Given the description of an element on the screen output the (x, y) to click on. 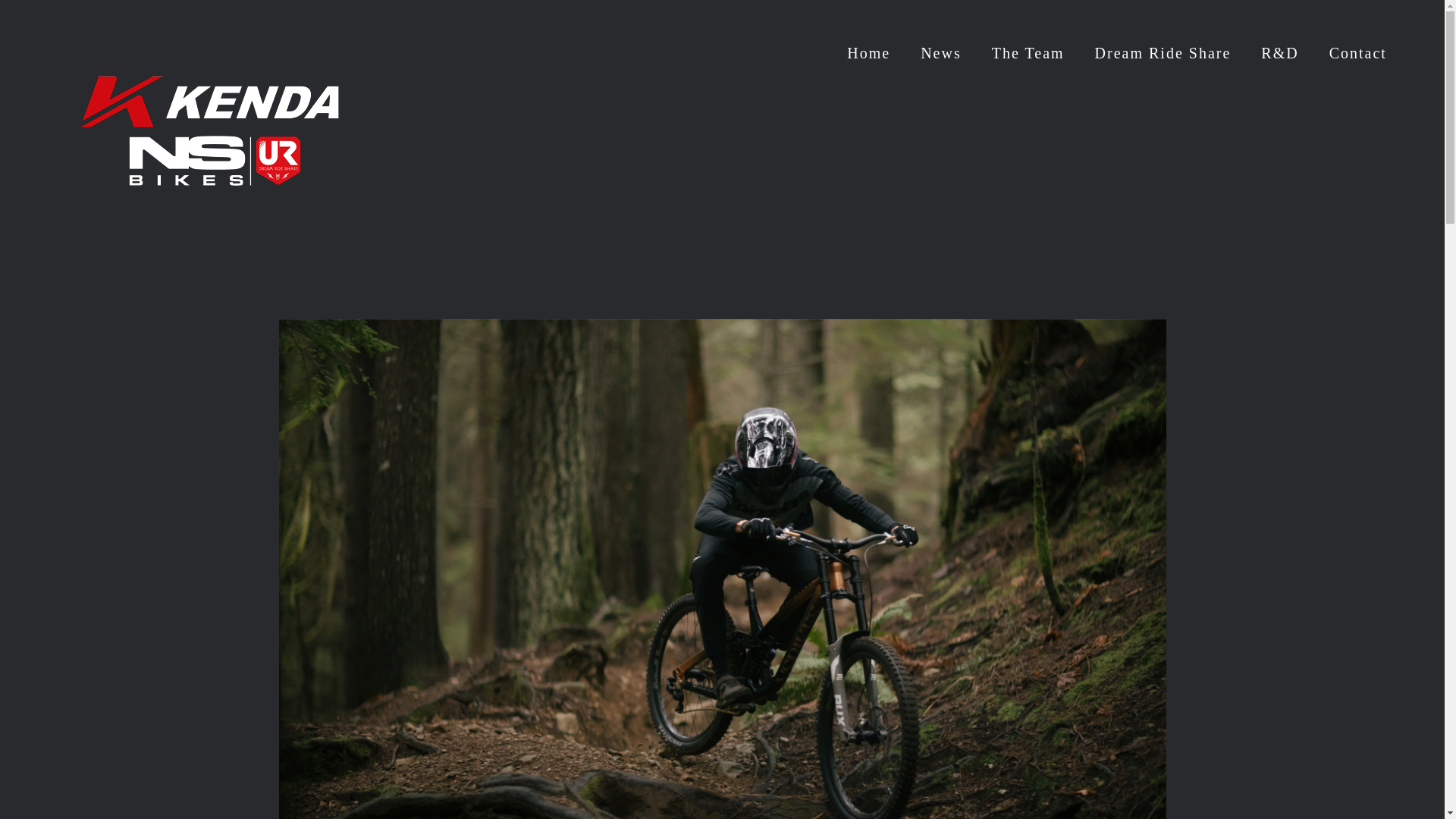
Dream Ride Share (1162, 53)
